Given the description of an element on the screen output the (x, y) to click on. 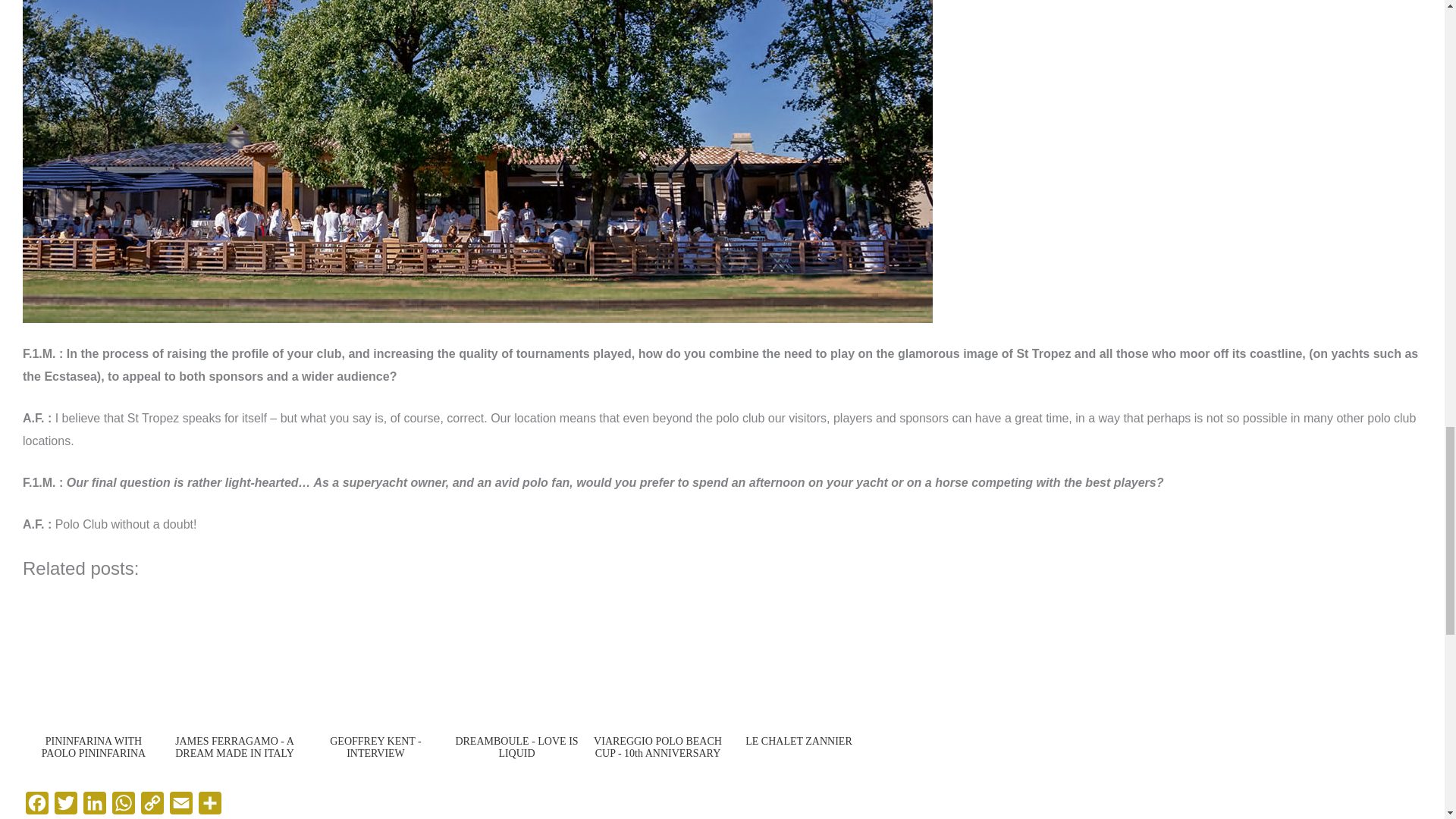
WhatsApp (123, 805)
Facebook (36, 805)
LinkedIn (94, 805)
Copy Link (152, 805)
WhatsApp (123, 805)
Facebook (36, 805)
Twitter (65, 805)
Copy Link (152, 805)
LinkedIn (94, 805)
Twitter (65, 805)
Email (181, 805)
